Given the description of an element on the screen output the (x, y) to click on. 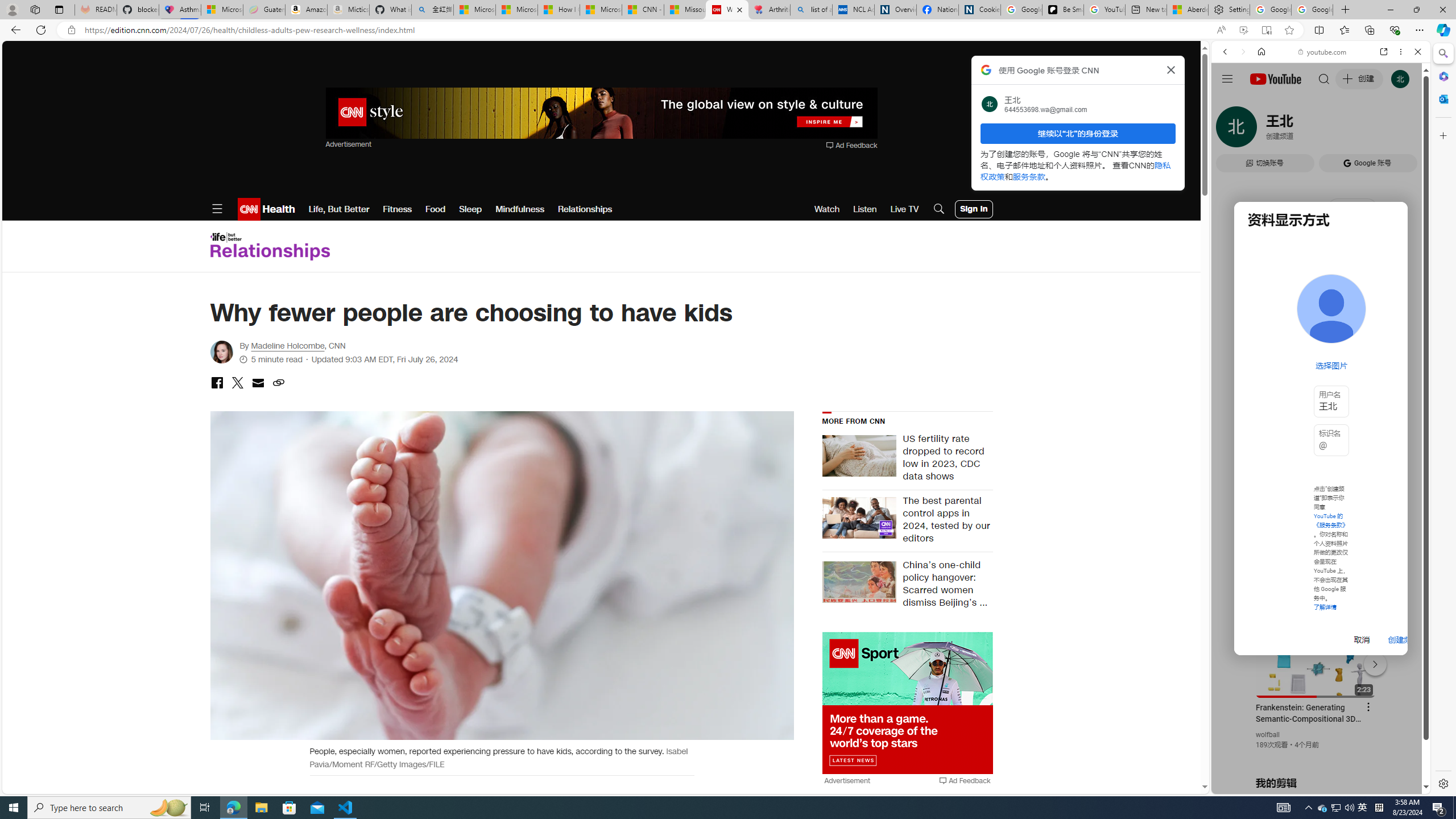
Aberdeen, Hong Kong SAR hourly forecast | Microsoft Weather (1186, 9)
Trailer #2 [HD] (1320, 337)
Life, But Better (338, 209)
CNN logo (248, 209)
Class: icon-social-email-fill (257, 382)
Enhance video (1243, 29)
youtube.com (1322, 51)
